Given the description of an element on the screen output the (x, y) to click on. 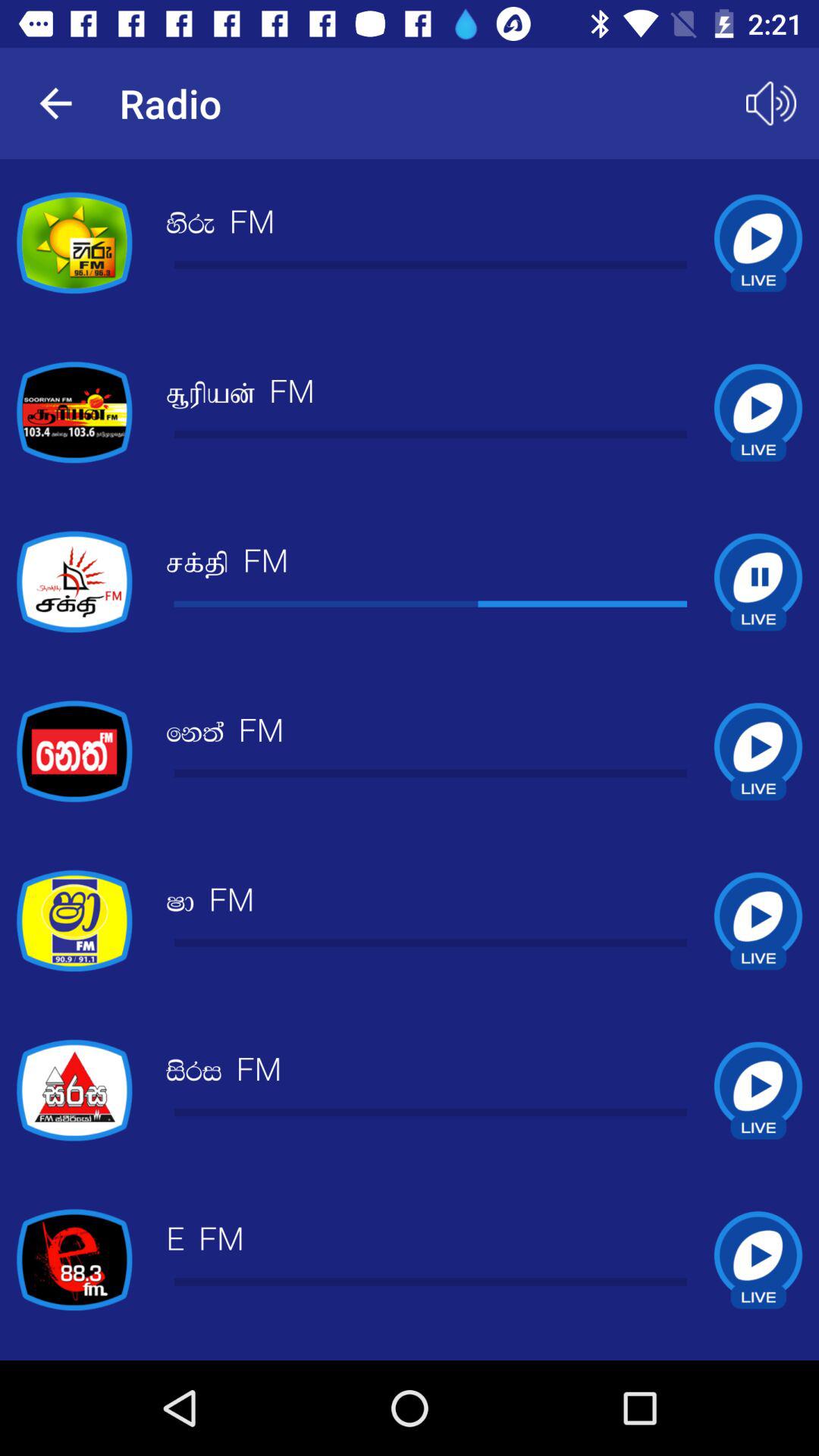
turn off the item next to radio item (55, 103)
